Given the description of an element on the screen output the (x, y) to click on. 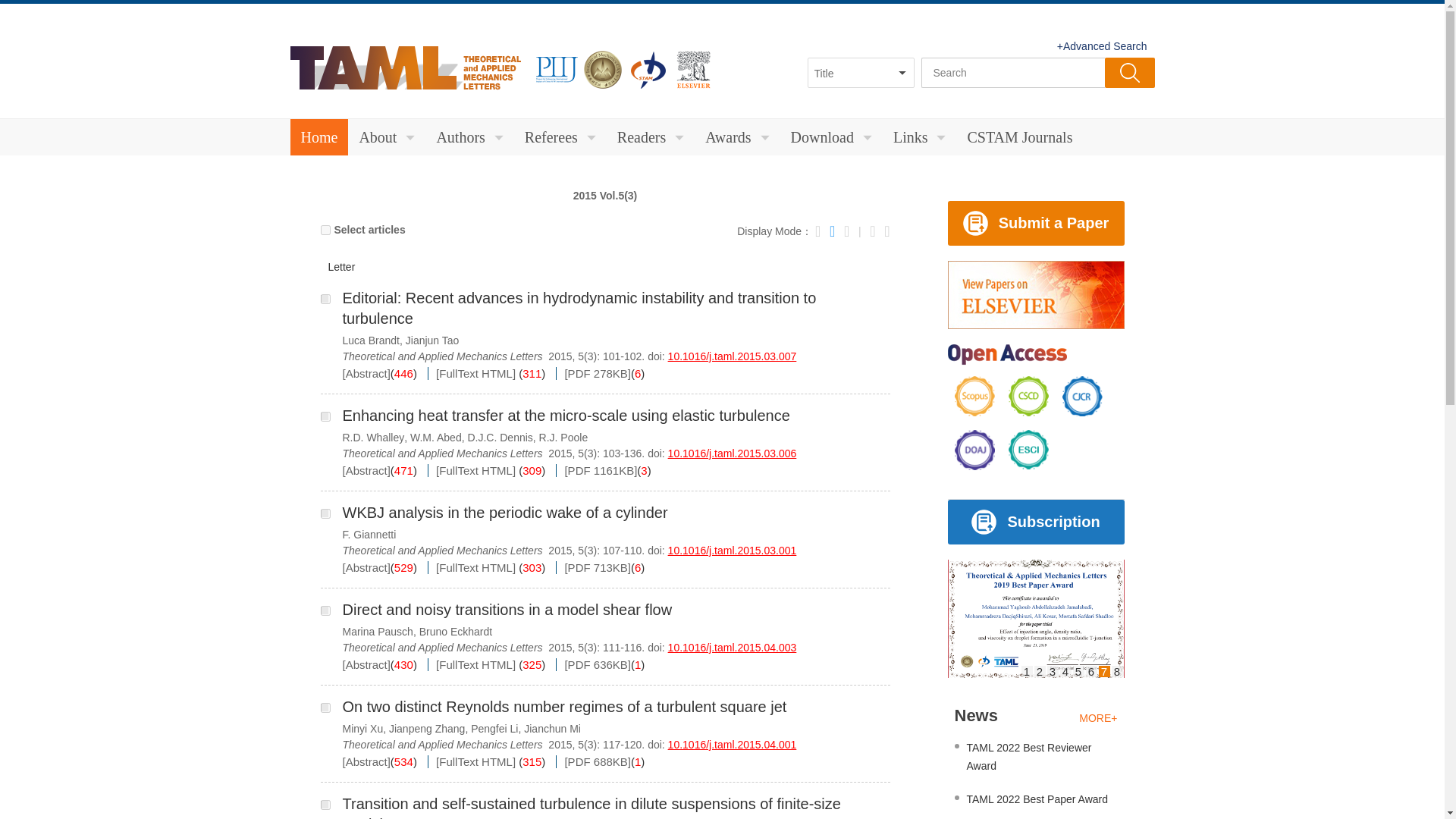
3b192026-a9c2-49e8-ae45-0bdb2c8e6890 (325, 610)
Download (831, 136)
About (386, 136)
Awards (736, 136)
Links (919, 136)
6626e039-794f-4a33-af1e-891c3e4b9bff (325, 707)
4244f7a2-ff92-4442-9df2-6137b76fbe49 (325, 298)
Referees (560, 136)
4e9425db-83d1-45e8-85de-7a2b39741405 (325, 416)
Readers (650, 136)
367e445e-8068-4235-8e6a-024f7690d216 (325, 513)
CSTAM Journals (1019, 136)
f4020620-fea0-4453-ab3a-f974c4f64f42 (325, 804)
Home (318, 136)
Authors (469, 136)
